Given the description of an element on the screen output the (x, y) to click on. 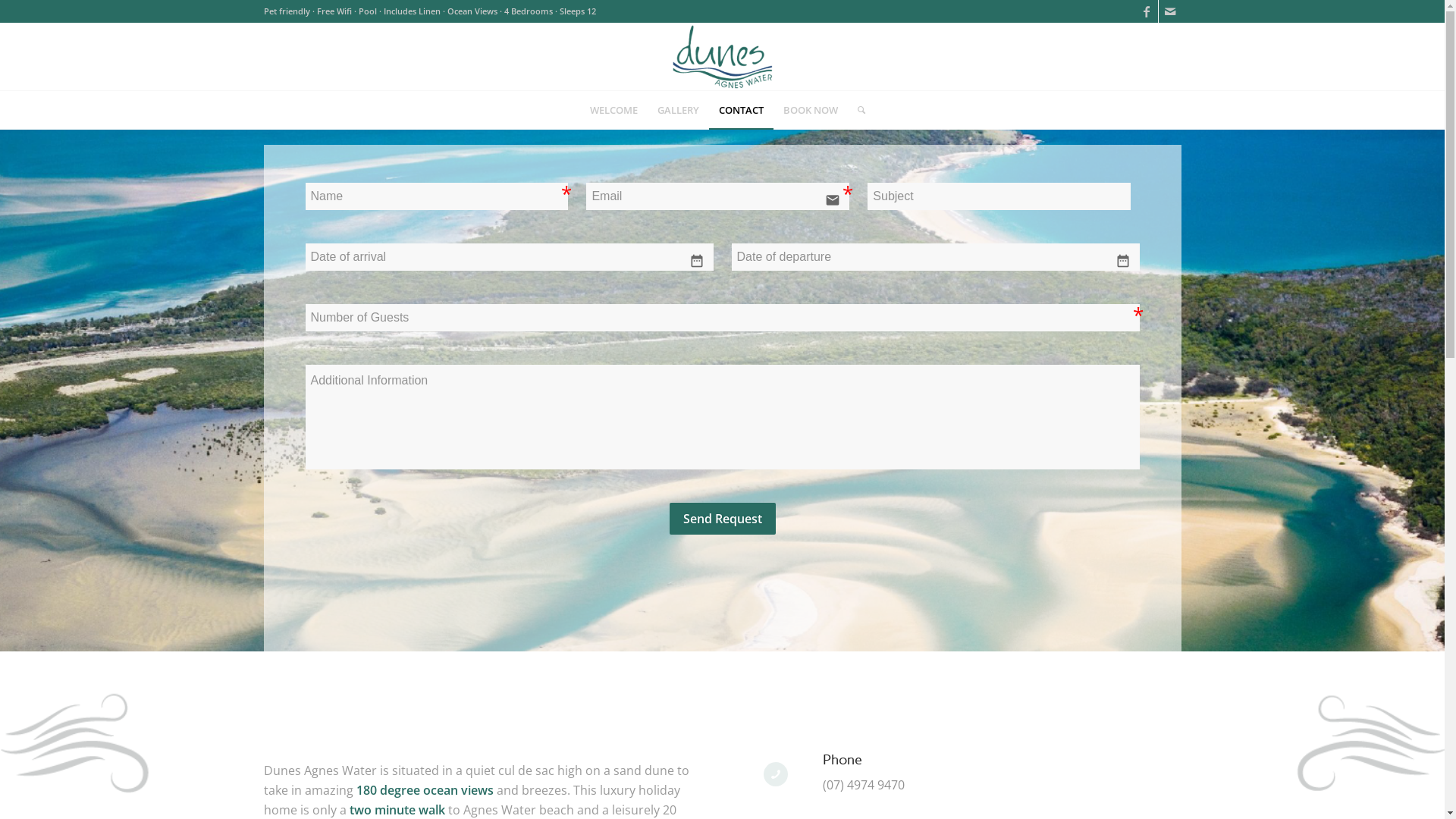
BOOK NOW Element type: text (810, 109)
Facebook Element type: hover (1146, 11)
CONTACT Element type: text (740, 109)
Send Request Element type: text (721, 518)
GALLERY Element type: text (678, 109)
WELCOME Element type: text (612, 109)
Mail Element type: hover (1169, 11)
